Given the description of an element on the screen output the (x, y) to click on. 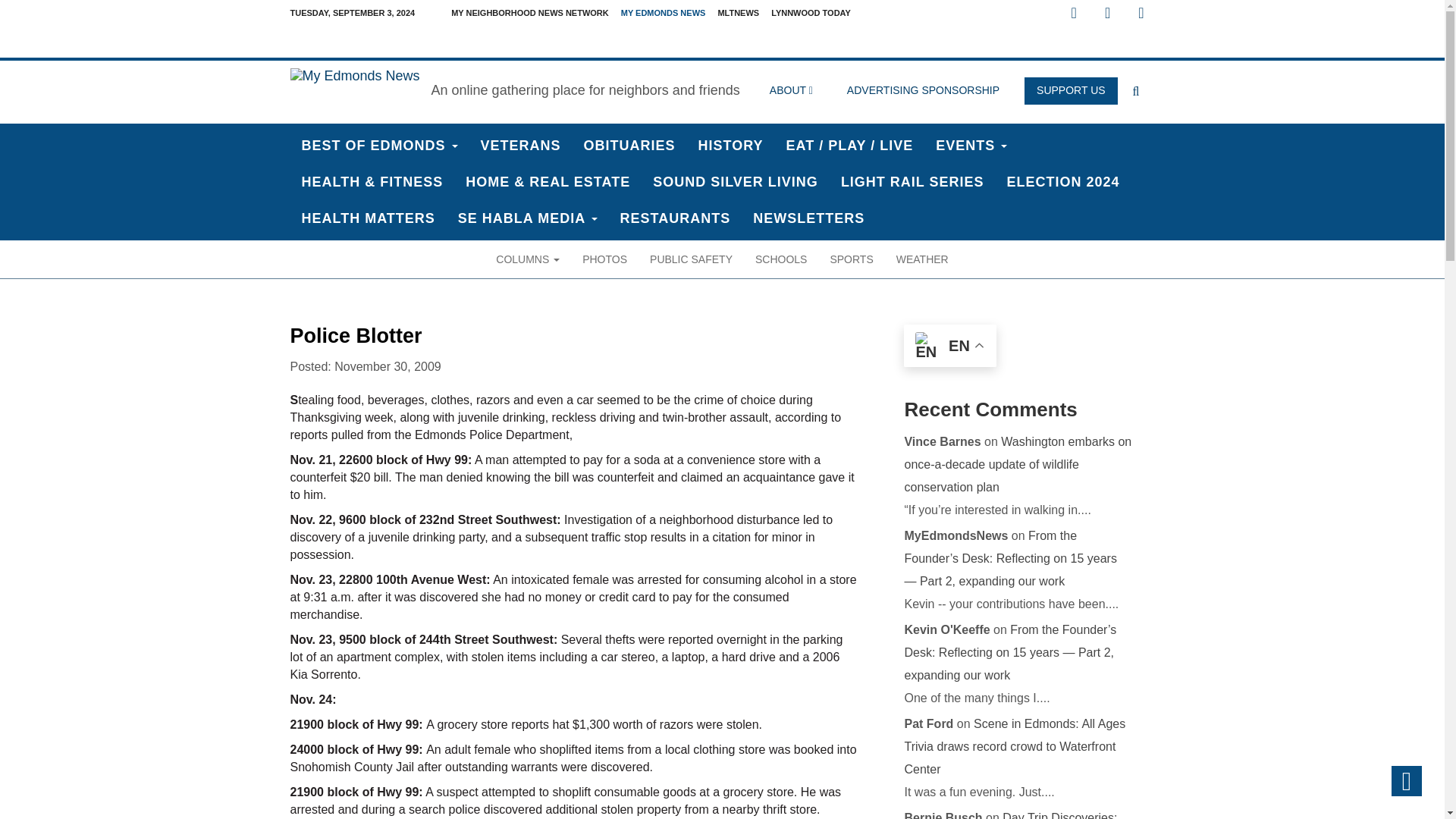
RESTAURANTS (674, 217)
Sound Silver Living (735, 181)
ELECTION 2024 (1063, 181)
MY EDMONDS NEWS (662, 13)
Veterans (520, 145)
LYNNWOOD TODAY (811, 13)
HEALTH MATTERS (367, 217)
MLTNEWS (738, 13)
ADVERTISING SPONSORSHIP (922, 90)
SUPPORT US (1071, 90)
